Given the description of an element on the screen output the (x, y) to click on. 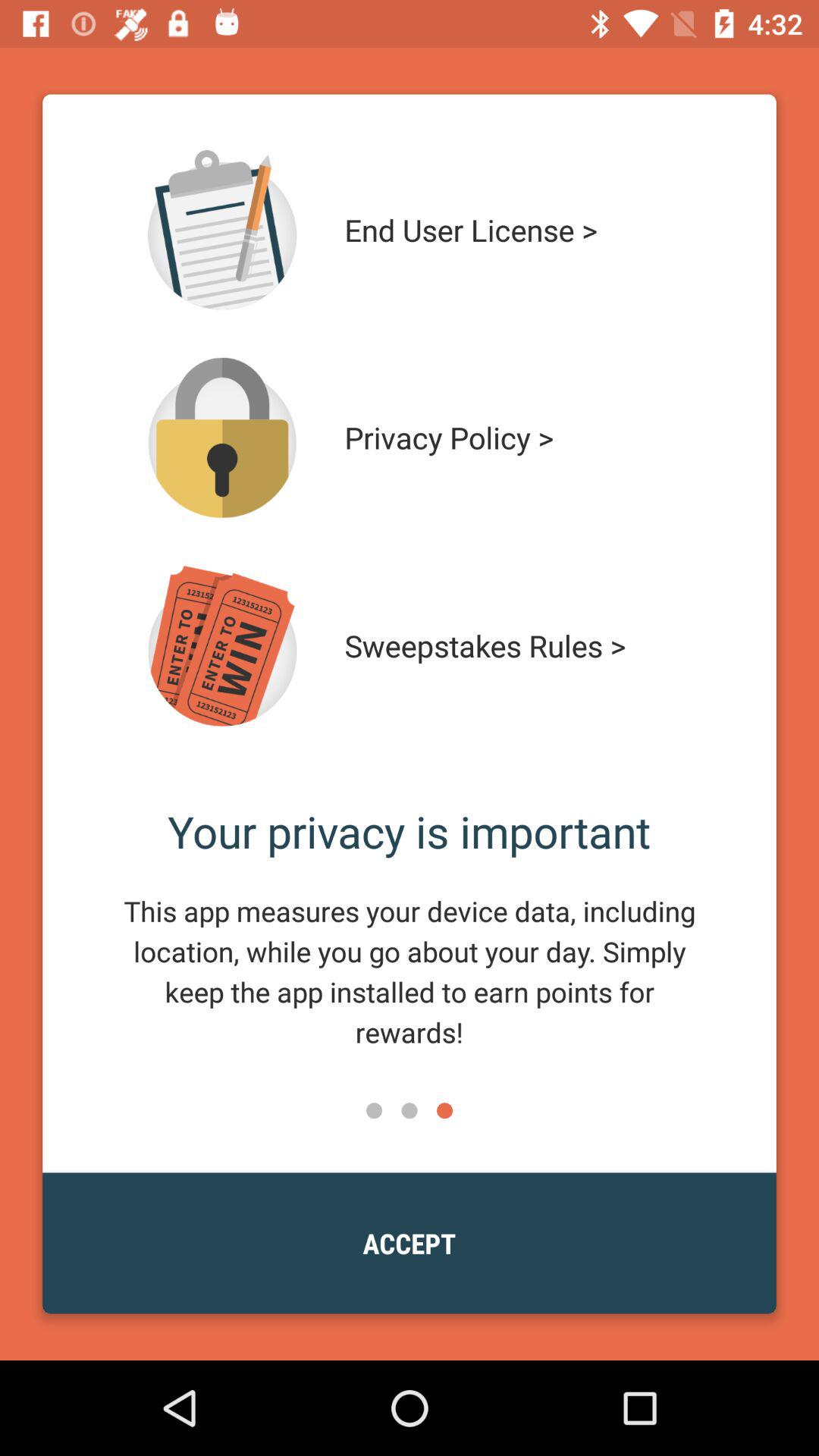
turn on the icon below the end user license > icon (514, 437)
